Given the description of an element on the screen output the (x, y) to click on. 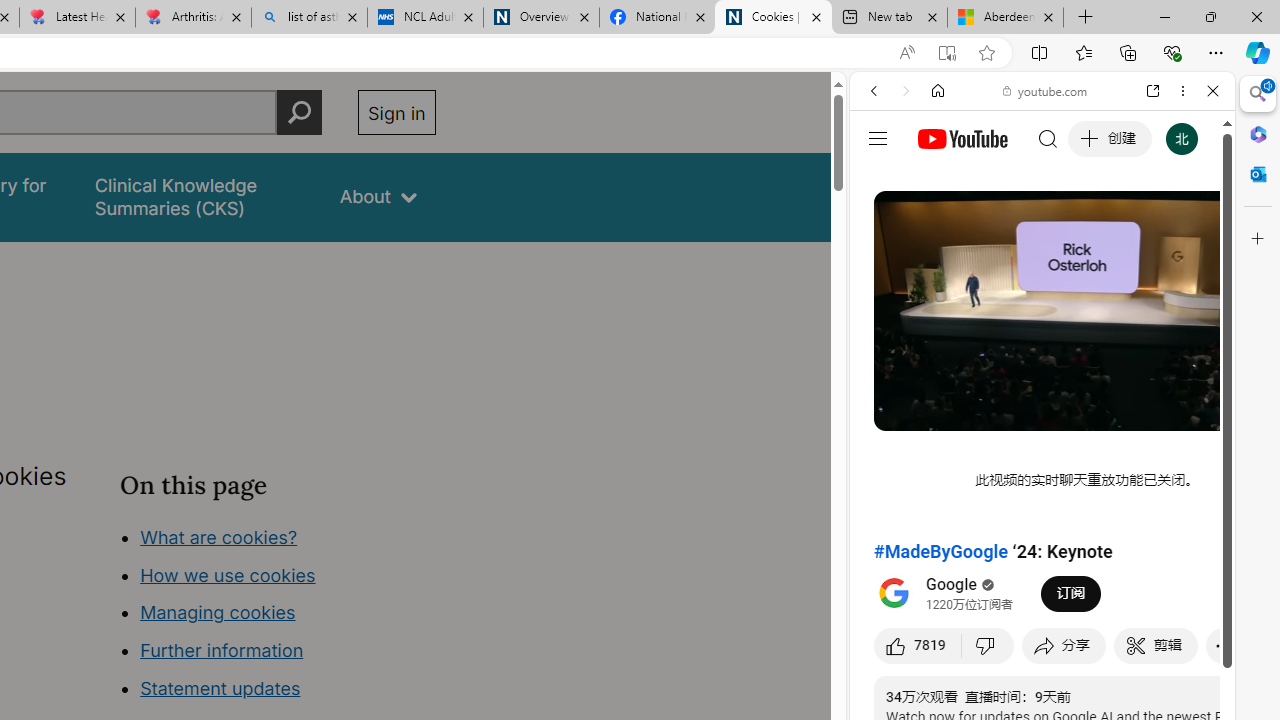
WEB   (882, 228)
NCL Adult Asthma Inhaler Choice Guideline (424, 17)
Perform search (299, 112)
Search Filter, VIDEOS (1006, 228)
youtube.com (1046, 90)
Enter Immersive Reader (F9) (946, 53)
false (198, 196)
